Given the description of an element on the screen output the (x, y) to click on. 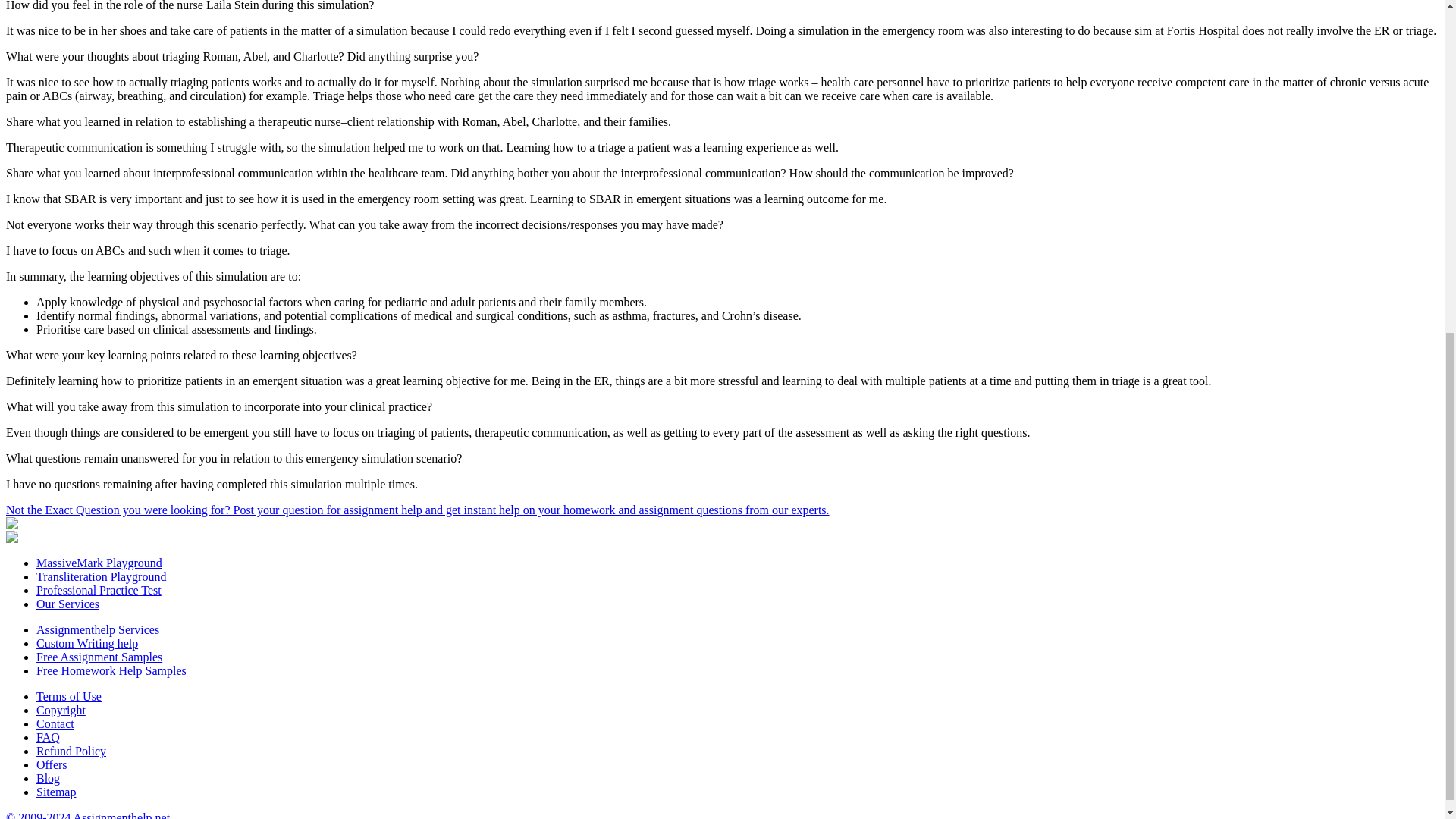
Custom Writing help (87, 643)
Professional Practice Test (98, 590)
Refund Policy (71, 750)
Offers (51, 764)
Blog (47, 778)
Sitemap (55, 791)
Copyright (60, 709)
MassiveMark Playground (98, 562)
Assignmenthelp Services (97, 629)
Contact (55, 723)
Terms of Use (68, 696)
Our Services (67, 603)
Free Assignment Samples (98, 656)
Transliteration Playground (100, 576)
FAQ (47, 737)
